Given the description of an element on the screen output the (x, y) to click on. 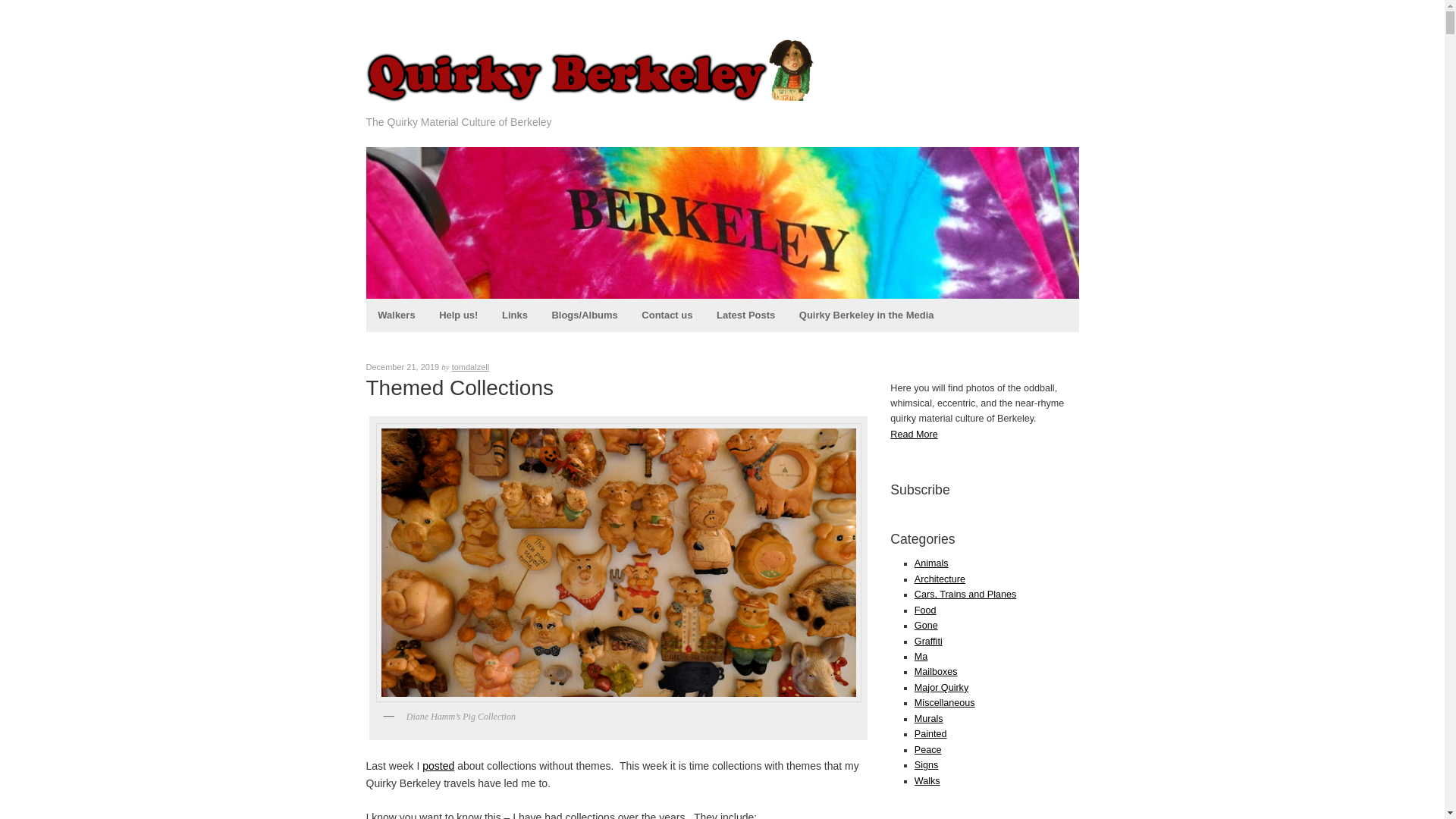
Contact us (667, 314)
Links (513, 314)
tomdalzell (470, 366)
Walkers (395, 314)
The Quirky Material Culture of Berkeley (593, 102)
posted (438, 766)
Help us! (457, 314)
View all posts by tomdalzell (470, 366)
Latest Posts (745, 314)
Quirky Berkeley in the Media (865, 314)
